Given the description of an element on the screen output the (x, y) to click on. 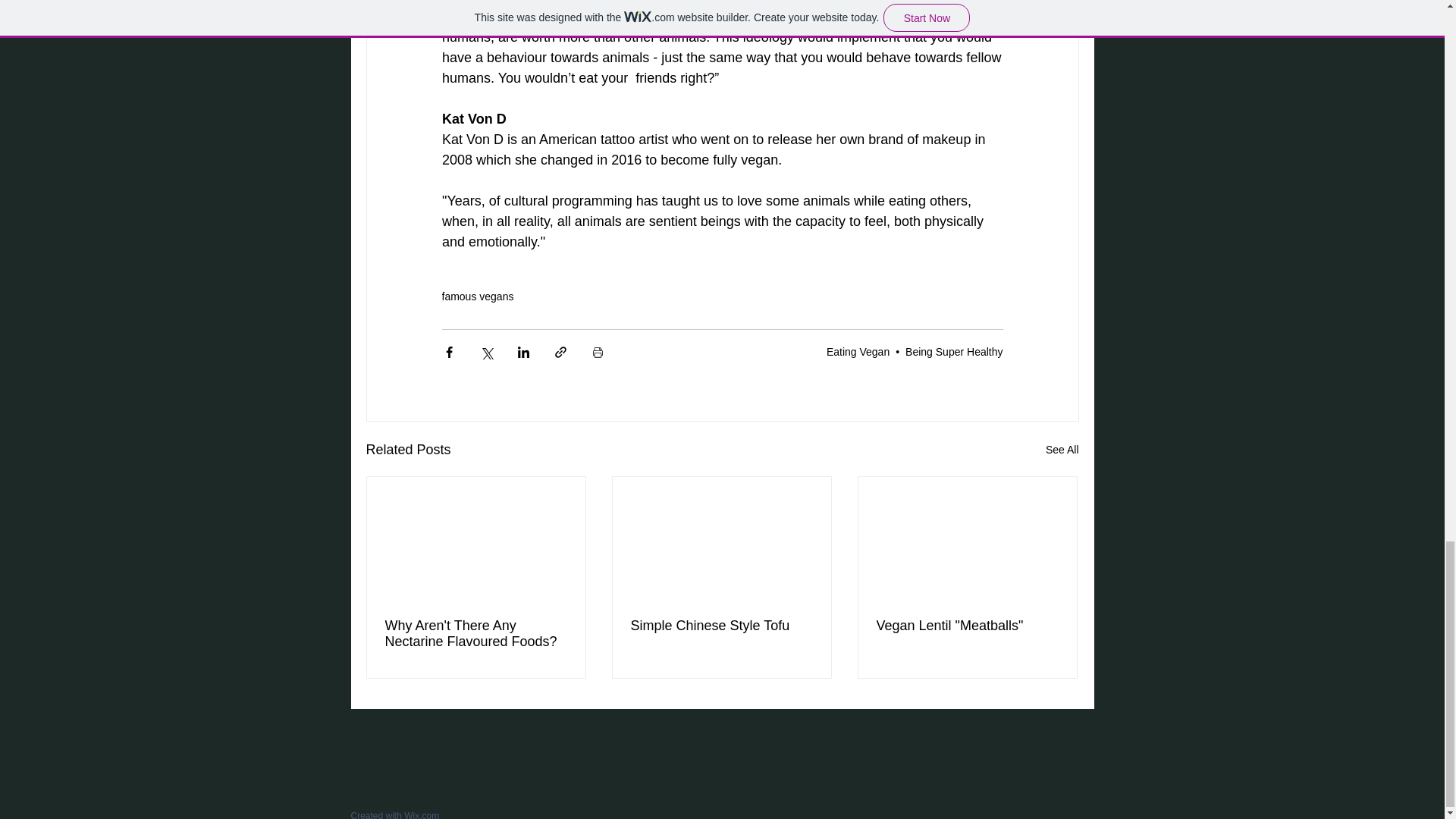
See All (1061, 449)
Why Aren't There Any Nectarine Flavoured Foods? (476, 633)
Eating Vegan (858, 351)
Being Super Healthy (954, 351)
famous vegans (477, 295)
Vegan Lentil "Meatballs" (967, 625)
Simple Chinese Style Tofu (721, 625)
